Given the description of an element on the screen output the (x, y) to click on. 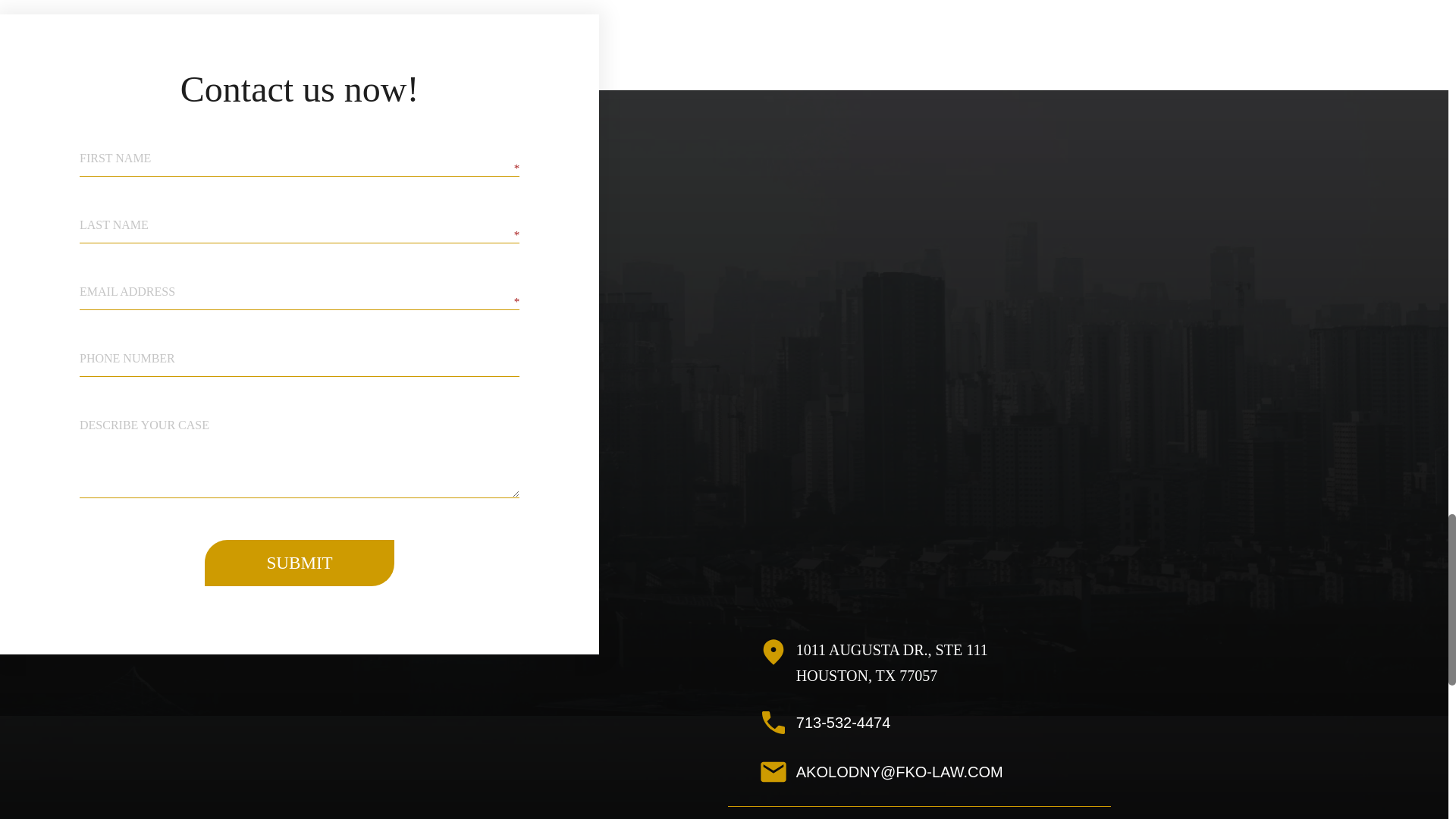
Email (1061, 771)
SUBMIT (299, 562)
Call Kolodny Law Firm (1061, 722)
713-532-4474 (1061, 722)
